Given the description of an element on the screen output the (x, y) to click on. 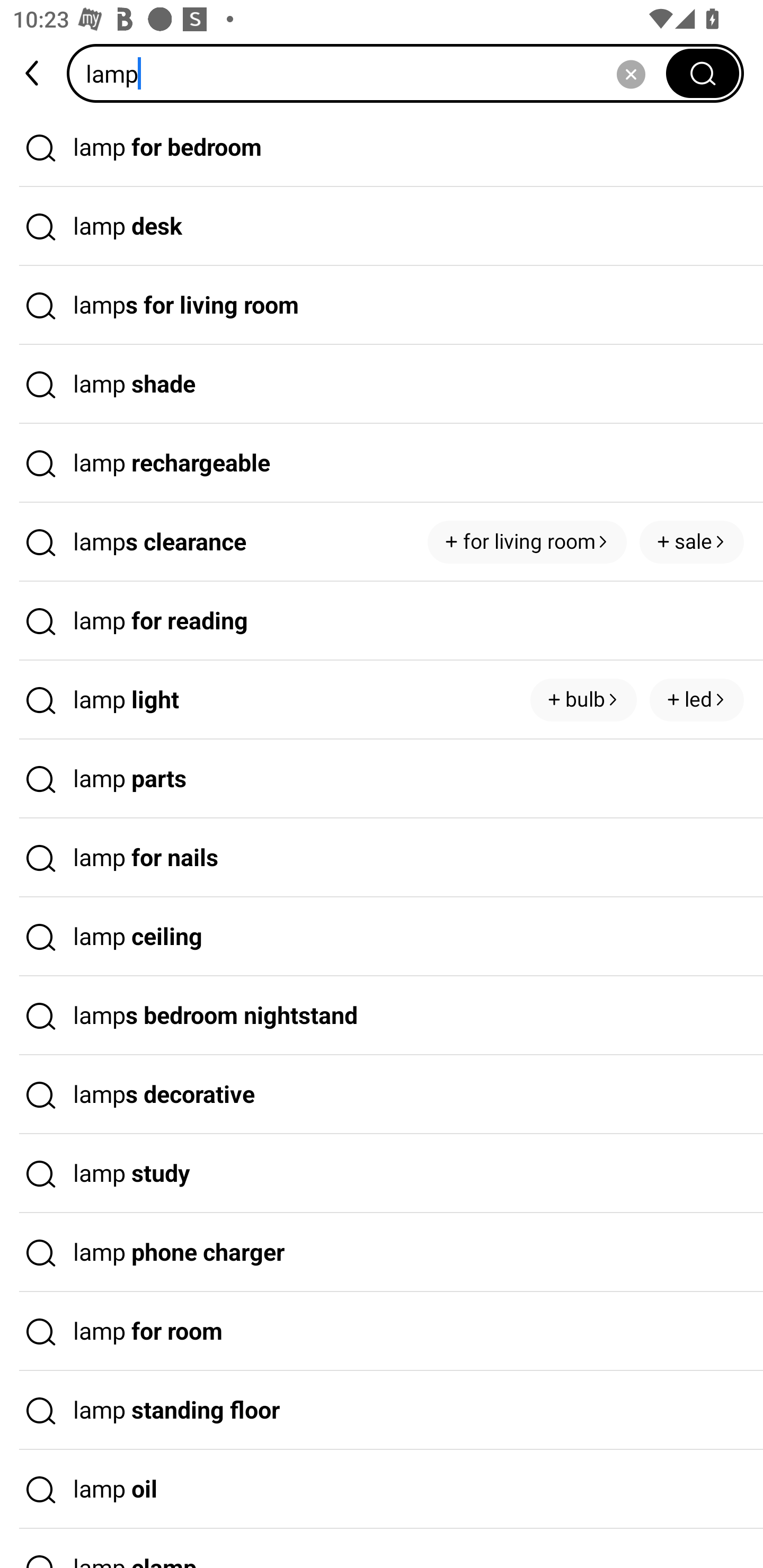
back (33, 72)
lamp (372, 73)
Delete search history (630, 73)
lamp for bedroom (381, 147)
lamp desk (381, 226)
lamps for living room (381, 305)
lamp shade (381, 383)
lamp rechargeable (381, 463)
lamps clearance for living room sale (381, 542)
for living room (527, 541)
sale (691, 541)
lamp for reading (381, 620)
lamp light bulb led (381, 700)
bulb (583, 699)
led (696, 699)
lamp parts (381, 779)
lamp for nails (381, 857)
lamp ceiling (381, 936)
lamps bedroom nightstand (381, 1015)
lamps decorative (381, 1094)
lamp study (381, 1173)
lamp phone charger (381, 1252)
lamp for room (381, 1331)
lamp standing floor (381, 1410)
lamp oil (381, 1489)
